Given the description of an element on the screen output the (x, y) to click on. 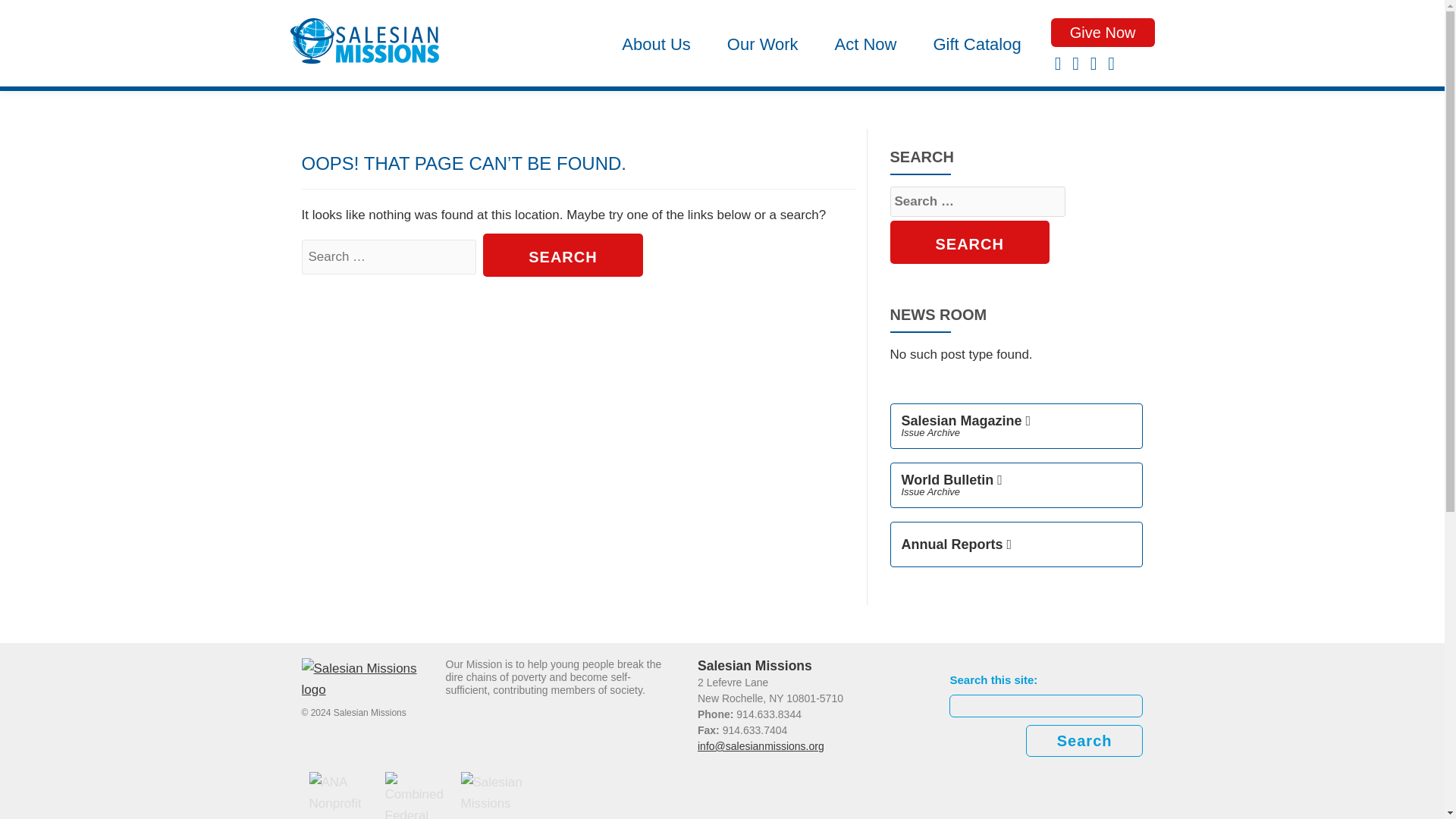
2021 Top-rated nonprofits and charities (495, 795)
Search (969, 241)
About Us (656, 43)
Search (562, 254)
Search (969, 241)
Search (562, 254)
Our Work (762, 43)
Salesian Missions (363, 45)
